Given the description of an element on the screen output the (x, y) to click on. 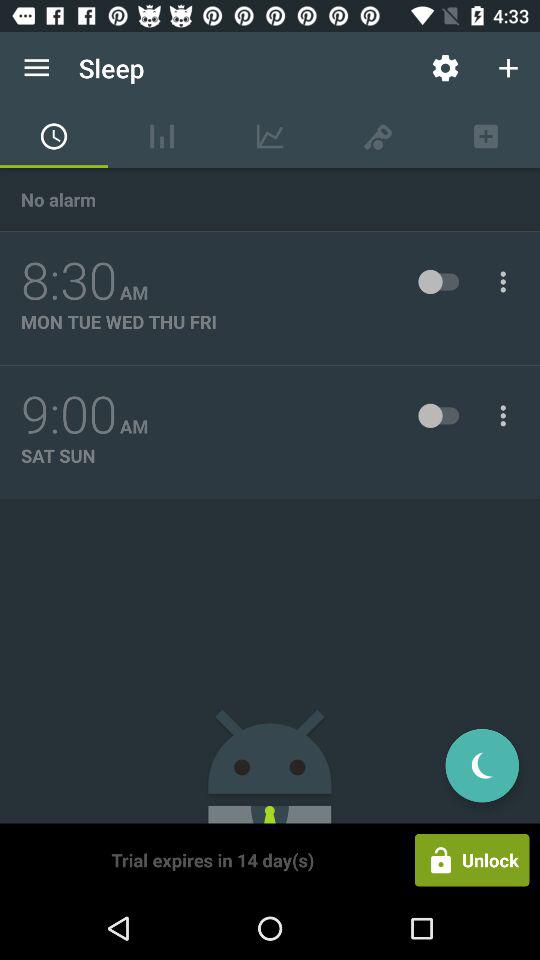
turn off the icon to the left of the am (69, 415)
